Given the description of an element on the screen output the (x, y) to click on. 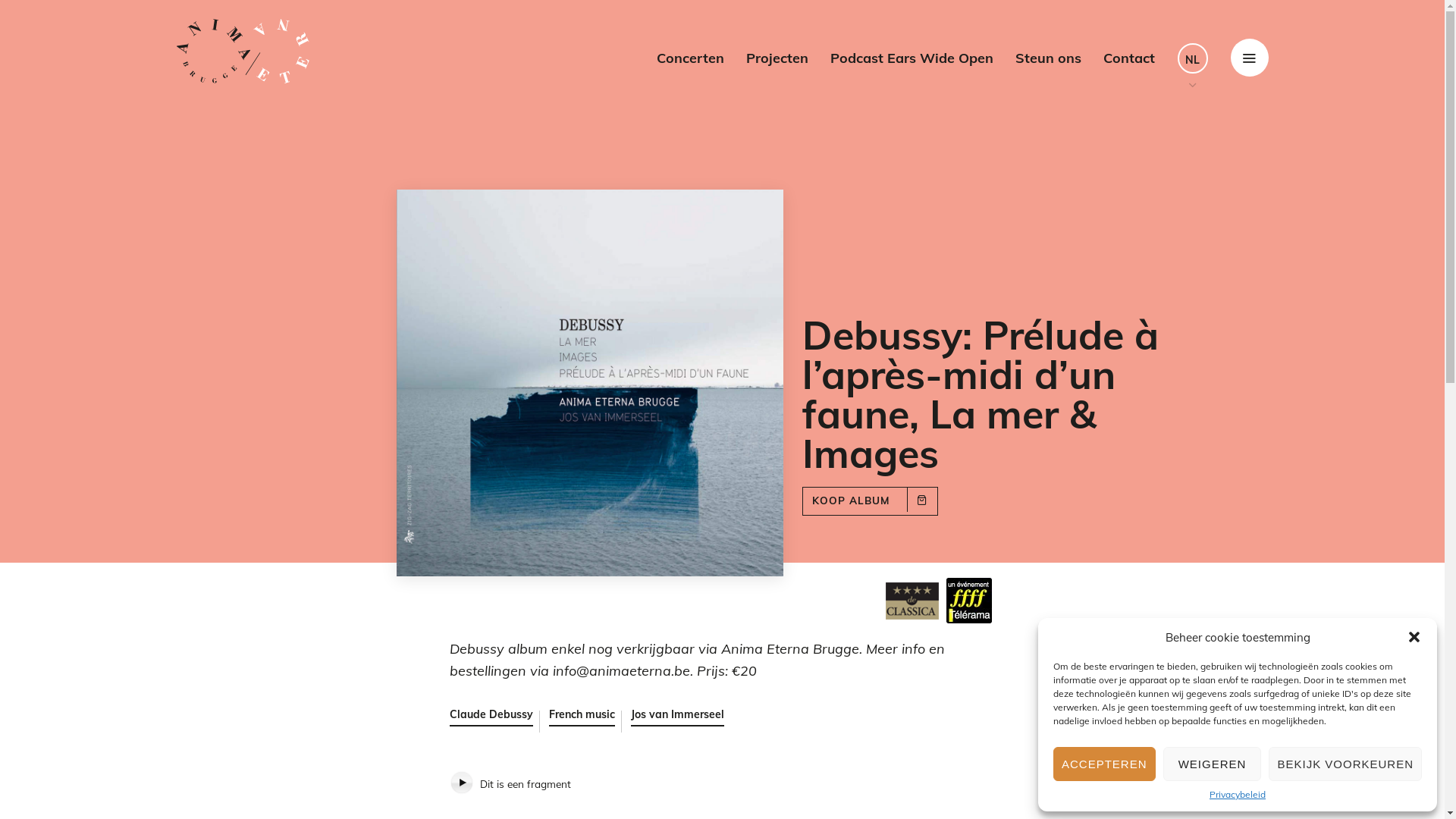
Concerten Element type: text (690, 58)
Privacybeleid Element type: text (1237, 794)
Anima Eterna Element type: text (241, 50)
WEIGEREN Element type: text (1212, 763)
KOOP ALBUM Element type: text (870, 500)
Projecten Element type: text (777, 58)
Jos van Immerseel Element type: text (677, 718)
NL Element type: text (1191, 57)
ACCEPTEREN Element type: text (1104, 763)
Claude Debussy Element type: text (490, 718)
Contact Element type: text (1128, 58)
BEKIJK VOORKEUREN Element type: text (1344, 763)
French music Element type: text (582, 718)
Steun ons Element type: text (1047, 58)
Podcast Ears Wide Open Element type: text (910, 58)
